Given the description of an element on the screen output the (x, y) to click on. 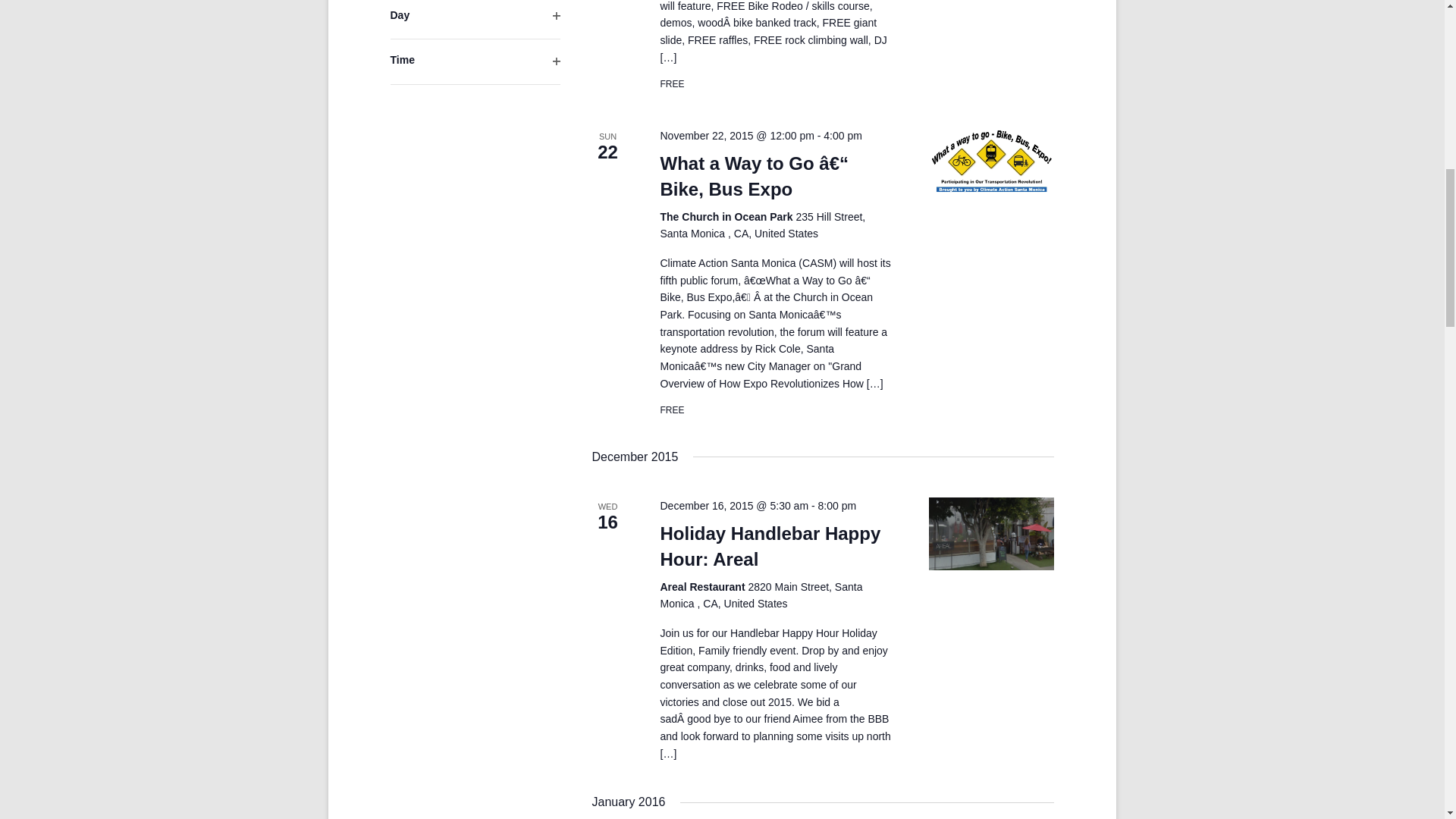
Holiday Handlebar Happy Hour: Areal (991, 533)
